Given the description of an element on the screen output the (x, y) to click on. 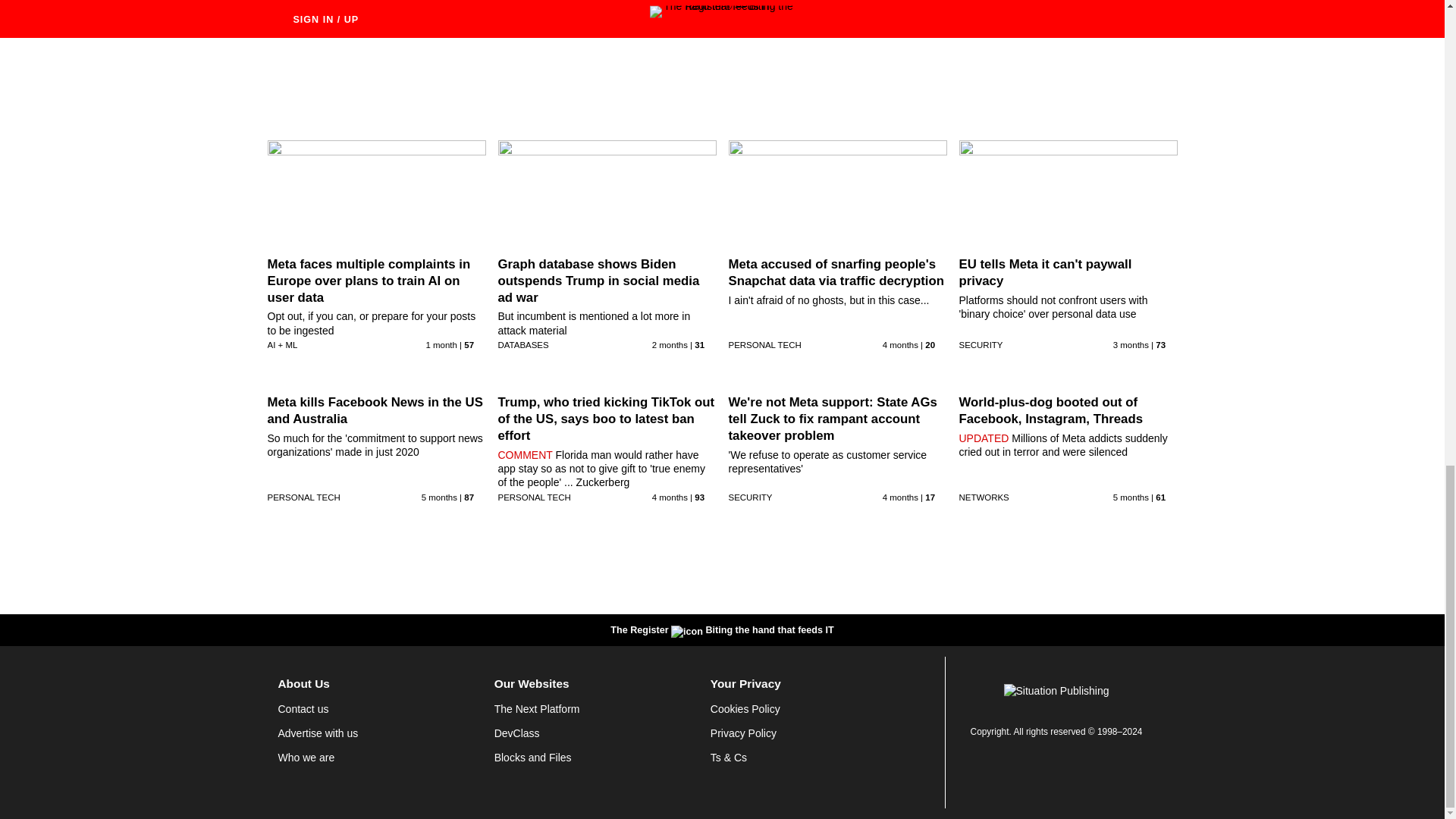
18 Jun 2024 14:2 (671, 8)
9 Mar 2024 0:25 (669, 497)
1 Mar 2024 3:45 (439, 497)
27 Jun 2024 21:5 (441, 8)
17 May 2024 19:29 (669, 344)
6 Jun 2024 15:45 (441, 344)
27 Mar 2024 15:30 (900, 344)
20 Jun 2024 3:30 (901, 8)
18 Apr 2024 12:19 (1130, 344)
